Given the description of an element on the screen output the (x, y) to click on. 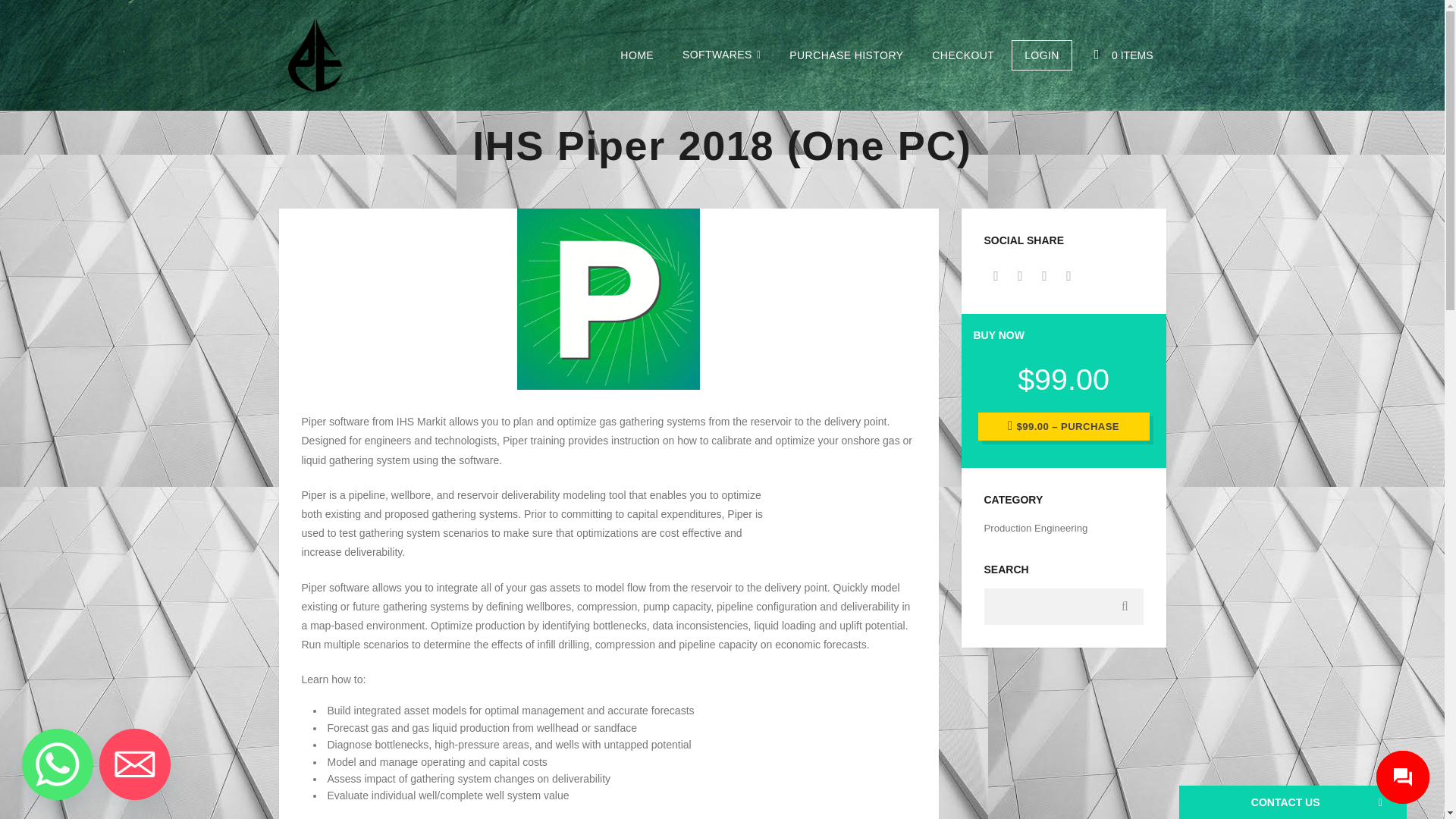
Twitter (1020, 276)
Search (1124, 606)
HOME (636, 55)
SOFTWARES (721, 55)
Production Engineering (1035, 527)
CHECKOUT (963, 55)
Facebook (996, 276)
LOGIN (1041, 55)
Search (1124, 606)
PURCHASE HISTORY (845, 55)
